Given the description of an element on the screen output the (x, y) to click on. 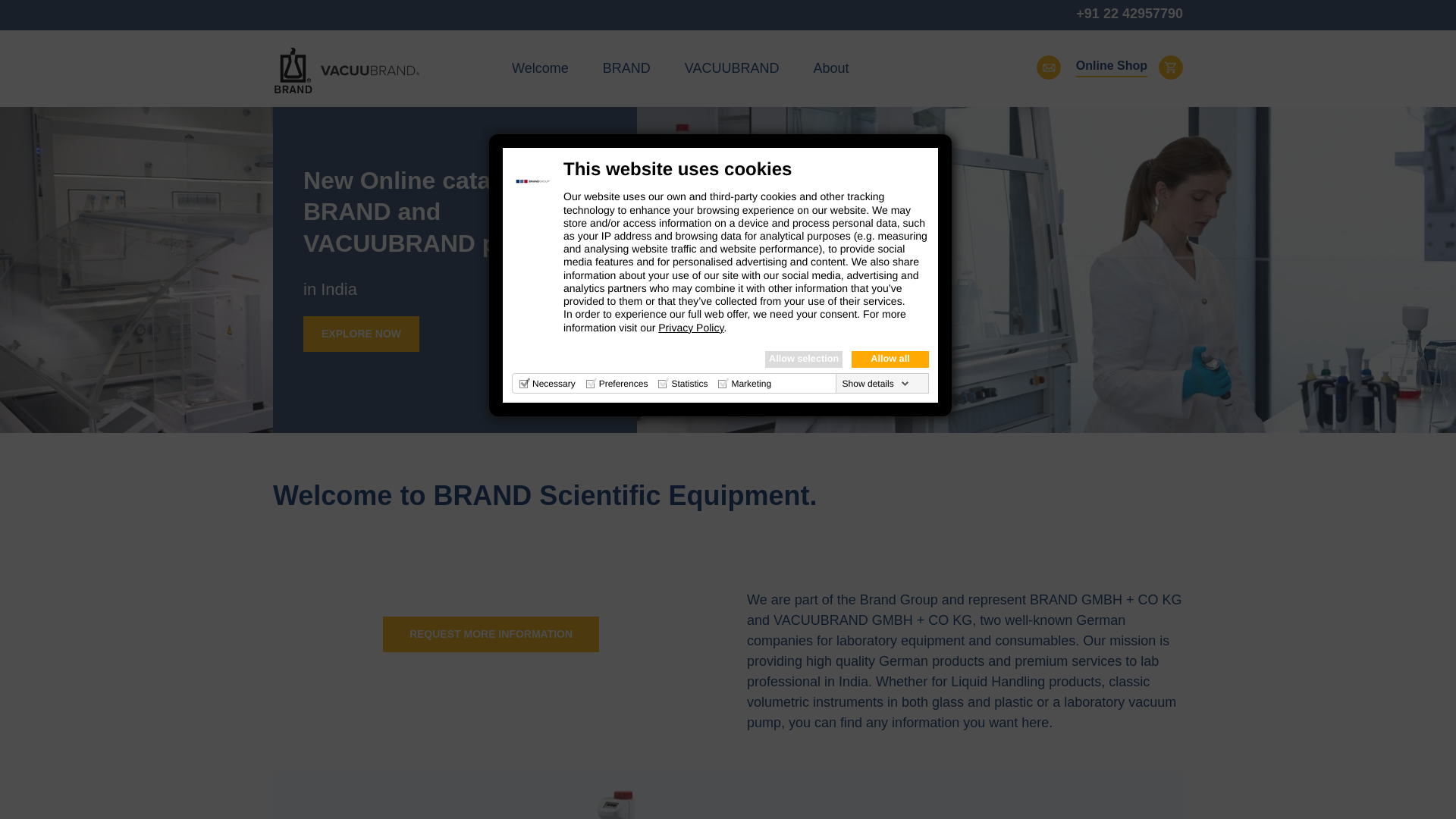
Allow all (889, 359)
Allow selection (804, 359)
Privacy Policy (690, 327)
Show details (876, 383)
Welcome (539, 67)
